Given the description of an element on the screen output the (x, y) to click on. 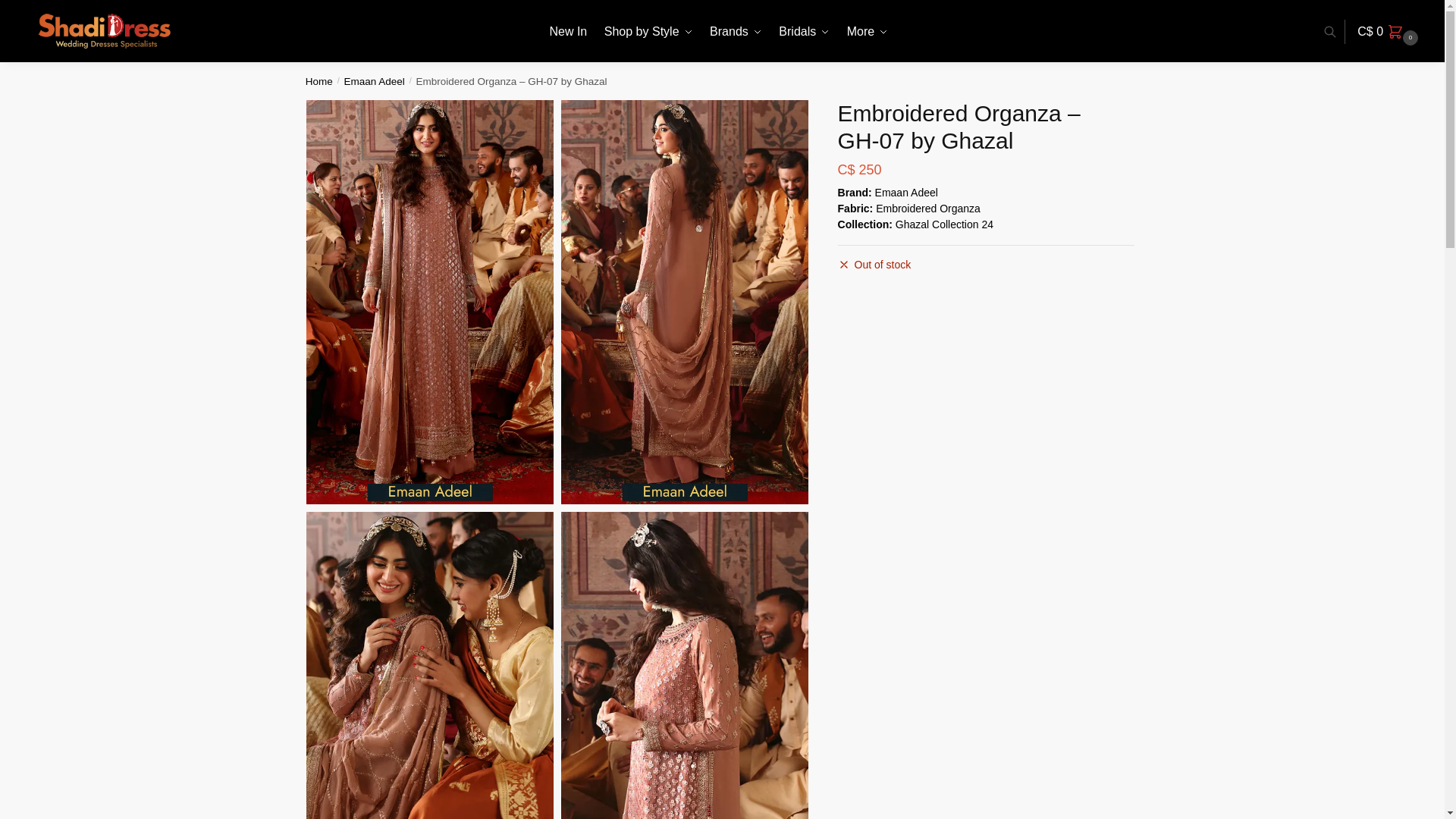
View your shopping cart (1389, 31)
Shop by Style (647, 31)
Brands (735, 31)
